Given the description of an element on the screen output the (x, y) to click on. 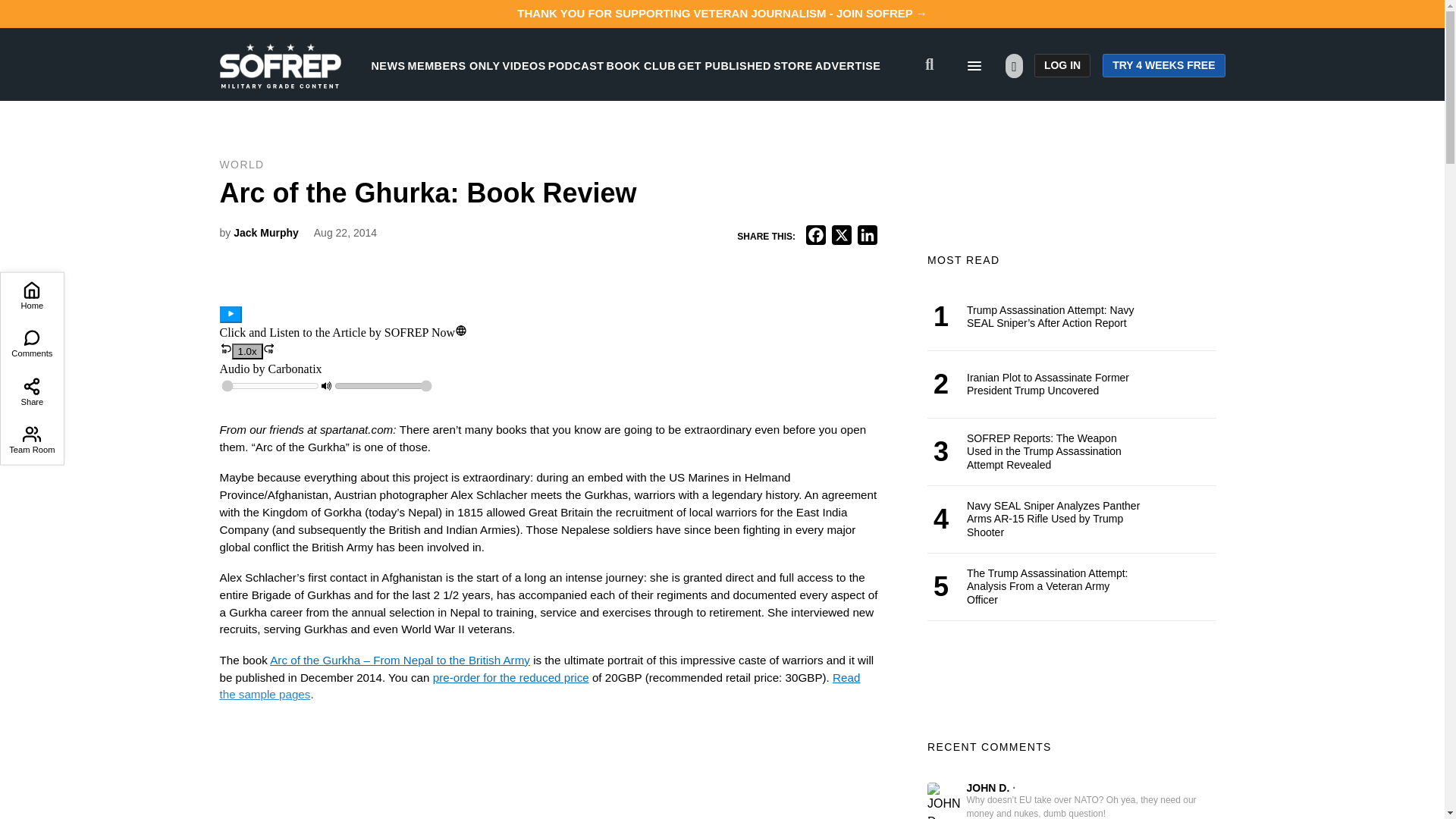
MEMBERS ONLY (453, 65)
VIDEOS (524, 65)
GET PUBLISHED (724, 65)
Arc of the gurkha on Facebook (268, 777)
PODCAST (576, 65)
ADVERTISE (847, 65)
TRY 4 WEEKS FREE (1163, 65)
BOOK CLUB (641, 65)
NEWS (388, 65)
STORE (792, 65)
LOG IN (1061, 65)
Buy Arc of the Gurkha (510, 676)
sample pages arc of the gurkha (539, 685)
Arc of the Gurkha (399, 659)
